Given the description of an element on the screen output the (x, y) to click on. 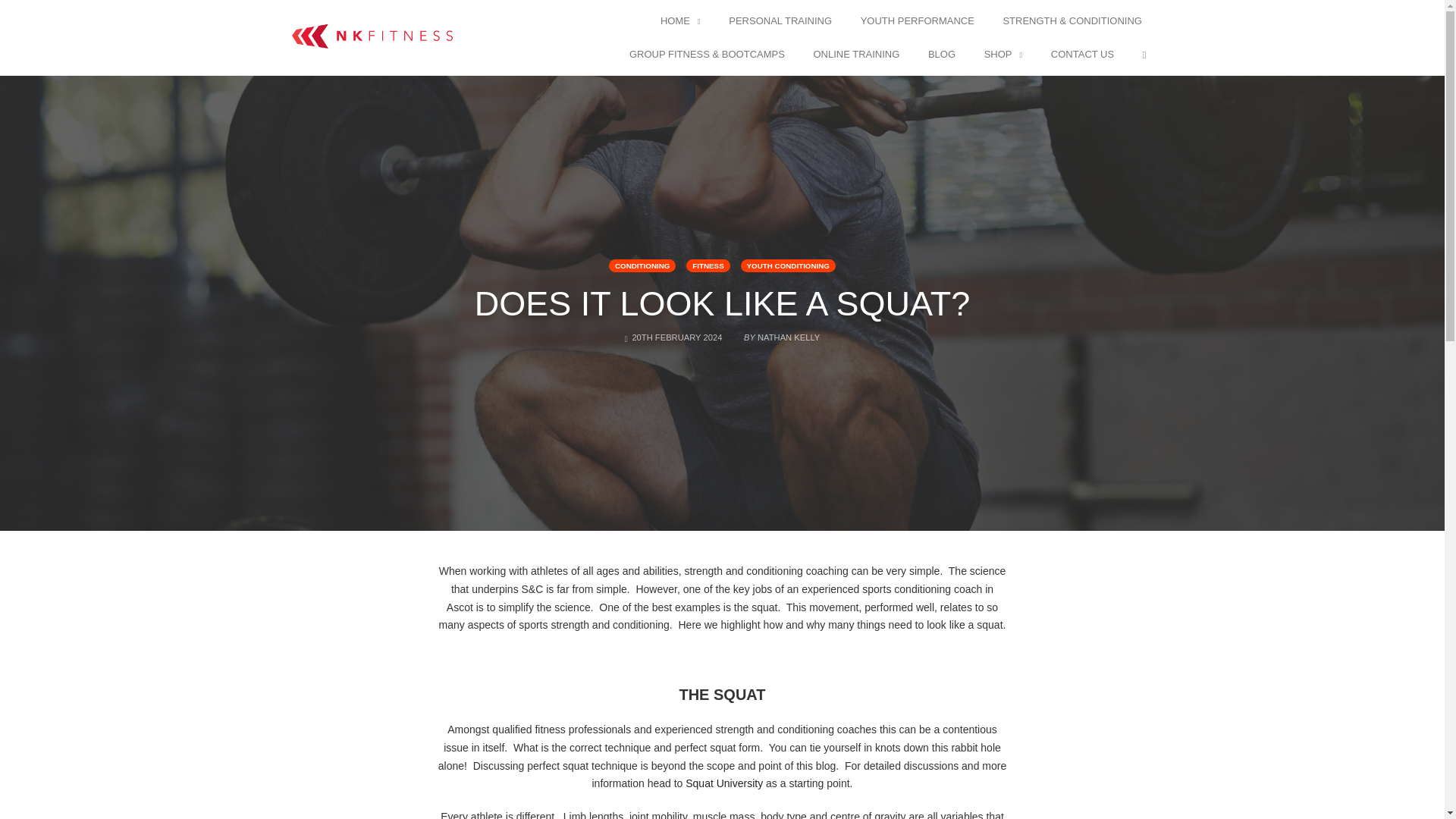
BY NATHAN KELLY (780, 333)
DOES IT LOOK LIKE A SQUAT? (722, 303)
HOME (680, 20)
YOUTH PERFORMANCE (916, 20)
YOUTH CONDITIONING (788, 265)
OPEN SEARCH FORM (1144, 54)
CONDITIONING (641, 265)
Squat University (723, 783)
FITNESS (707, 265)
BLOG (941, 54)
CONTACT US (1082, 54)
SHOP (1002, 54)
ONLINE TRAINING (856, 54)
PERSONAL TRAINING (780, 20)
